Given the description of an element on the screen output the (x, y) to click on. 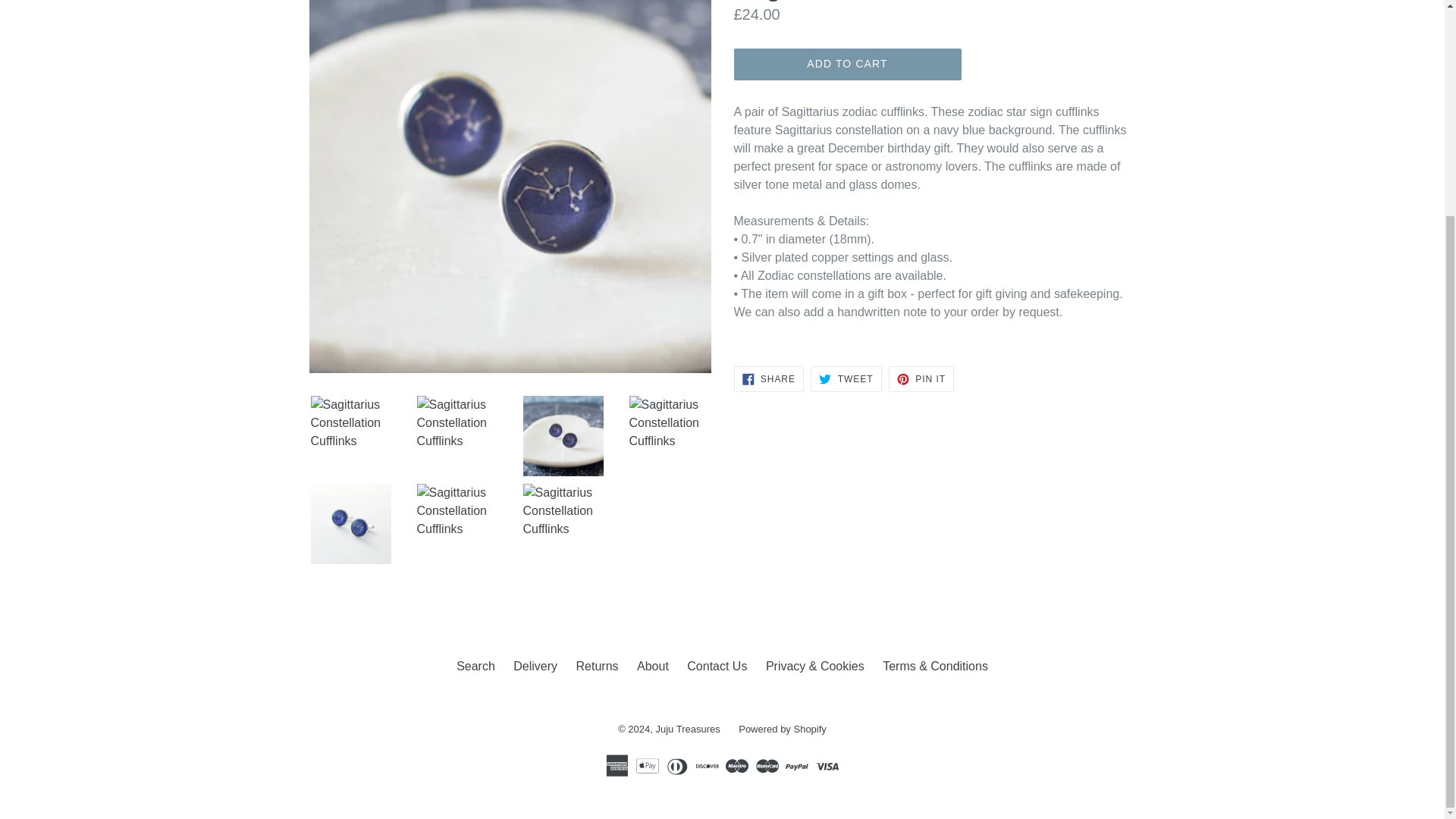
Share on Facebook (768, 379)
Pin on Pinterest (920, 379)
Tweet on Twitter (845, 379)
